Given the description of an element on the screen output the (x, y) to click on. 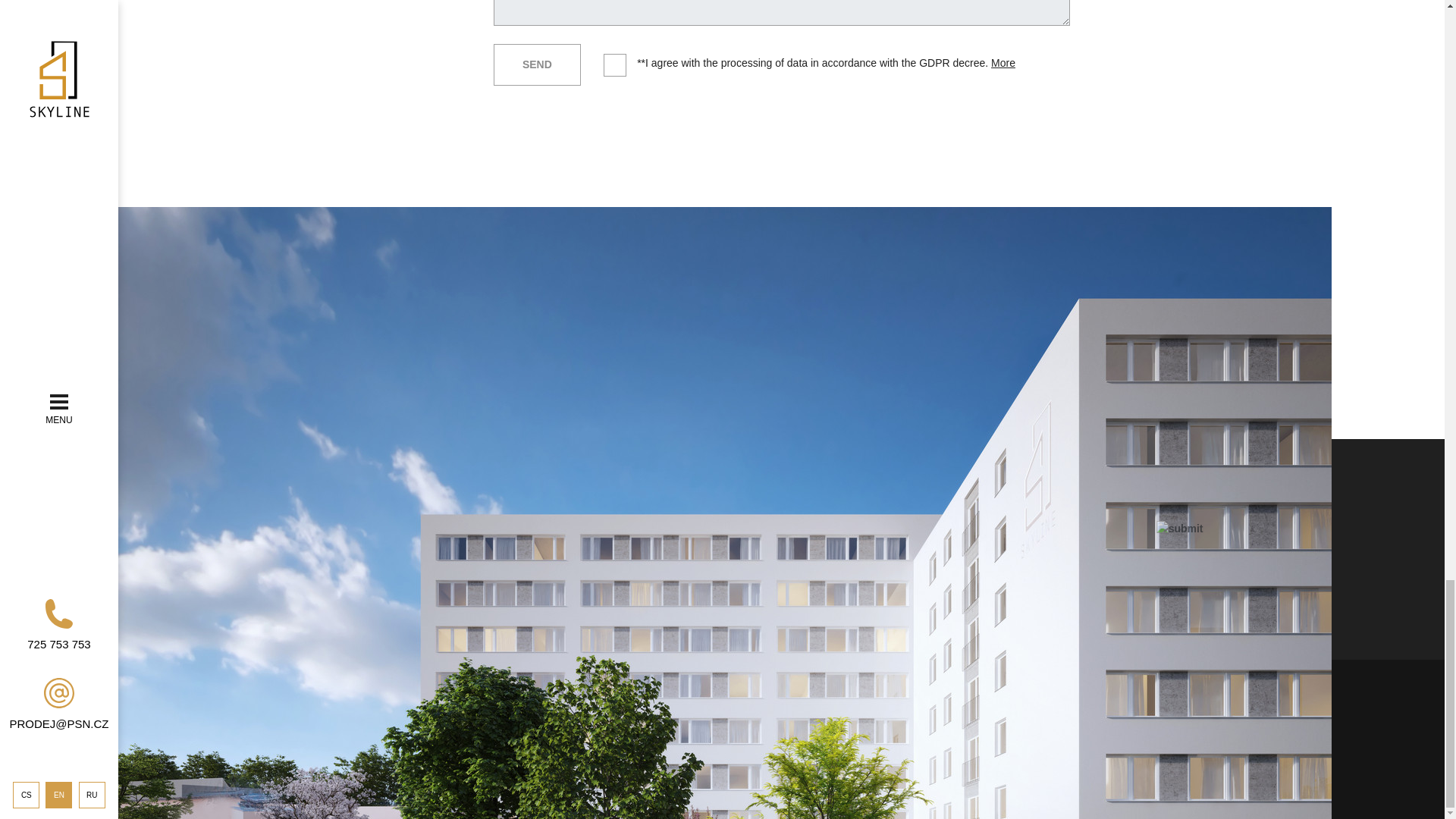
Send (536, 64)
More (1002, 62)
Send (536, 64)
Visualizations are indicative only (724, 635)
